Given the description of an element on the screen output the (x, y) to click on. 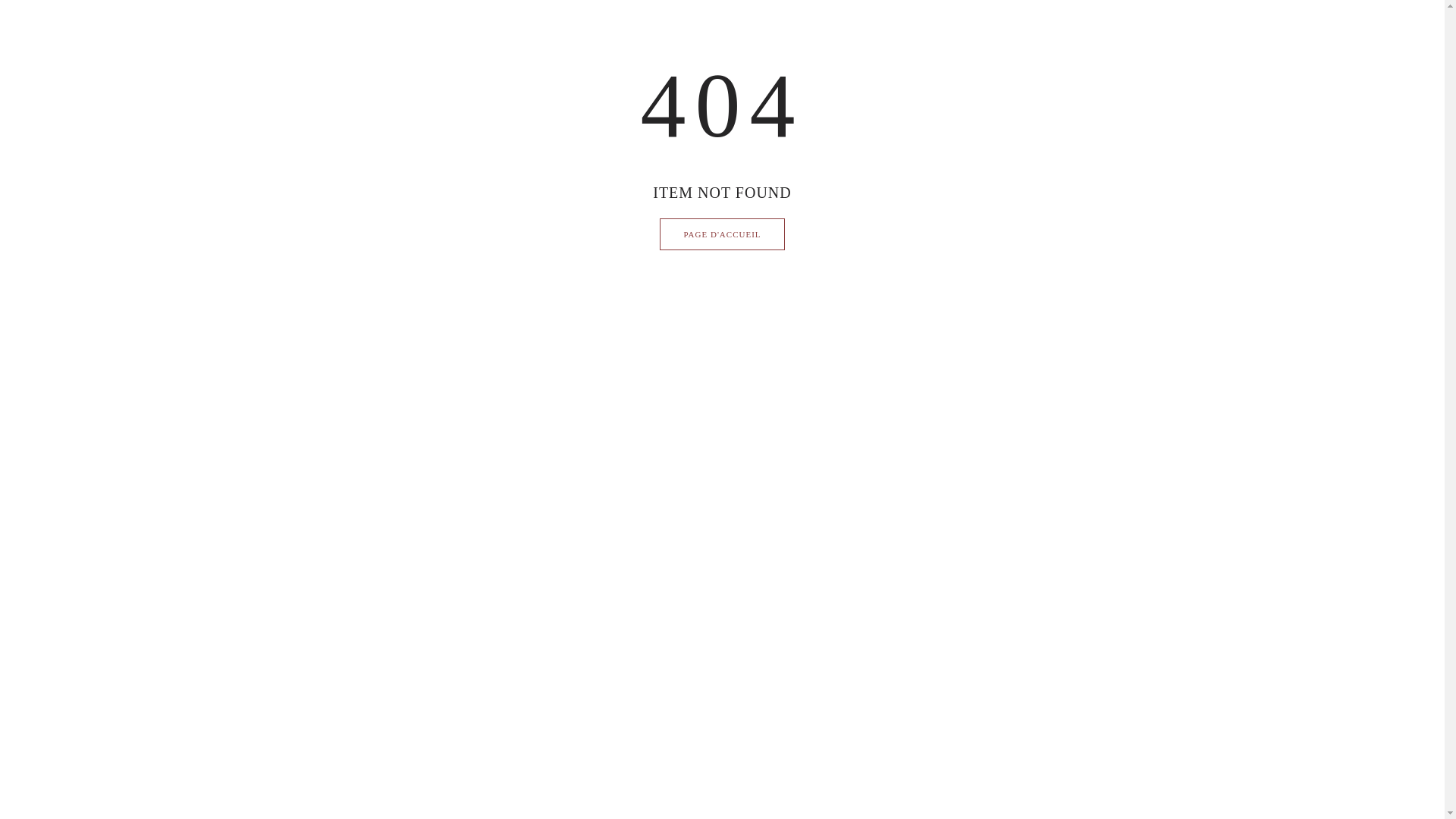
PAGE D'ACCUEIL Element type: text (721, 234)
